Given the description of an element on the screen output the (x, y) to click on. 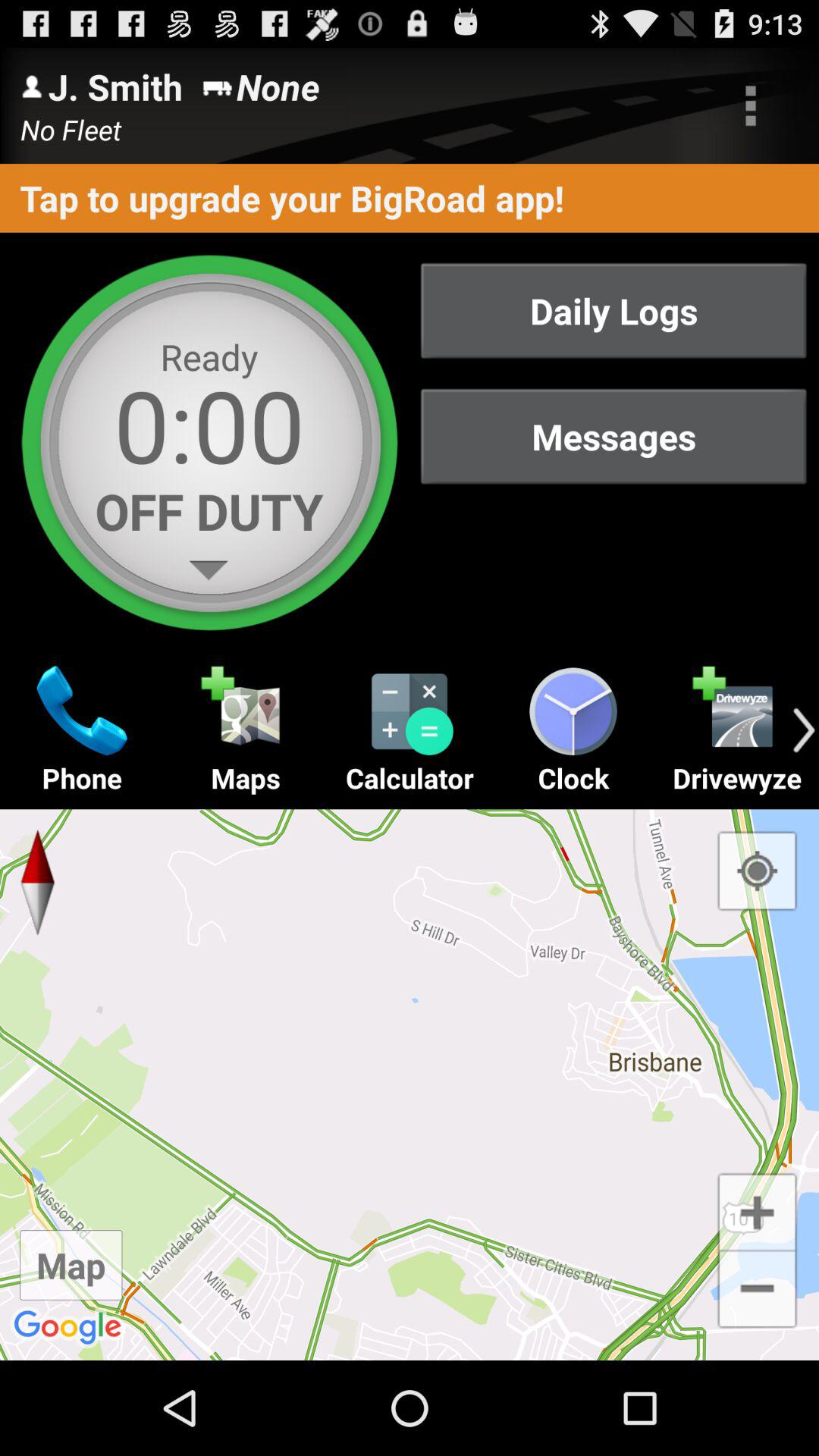
zoom out (757, 1290)
